Given the description of an element on the screen output the (x, y) to click on. 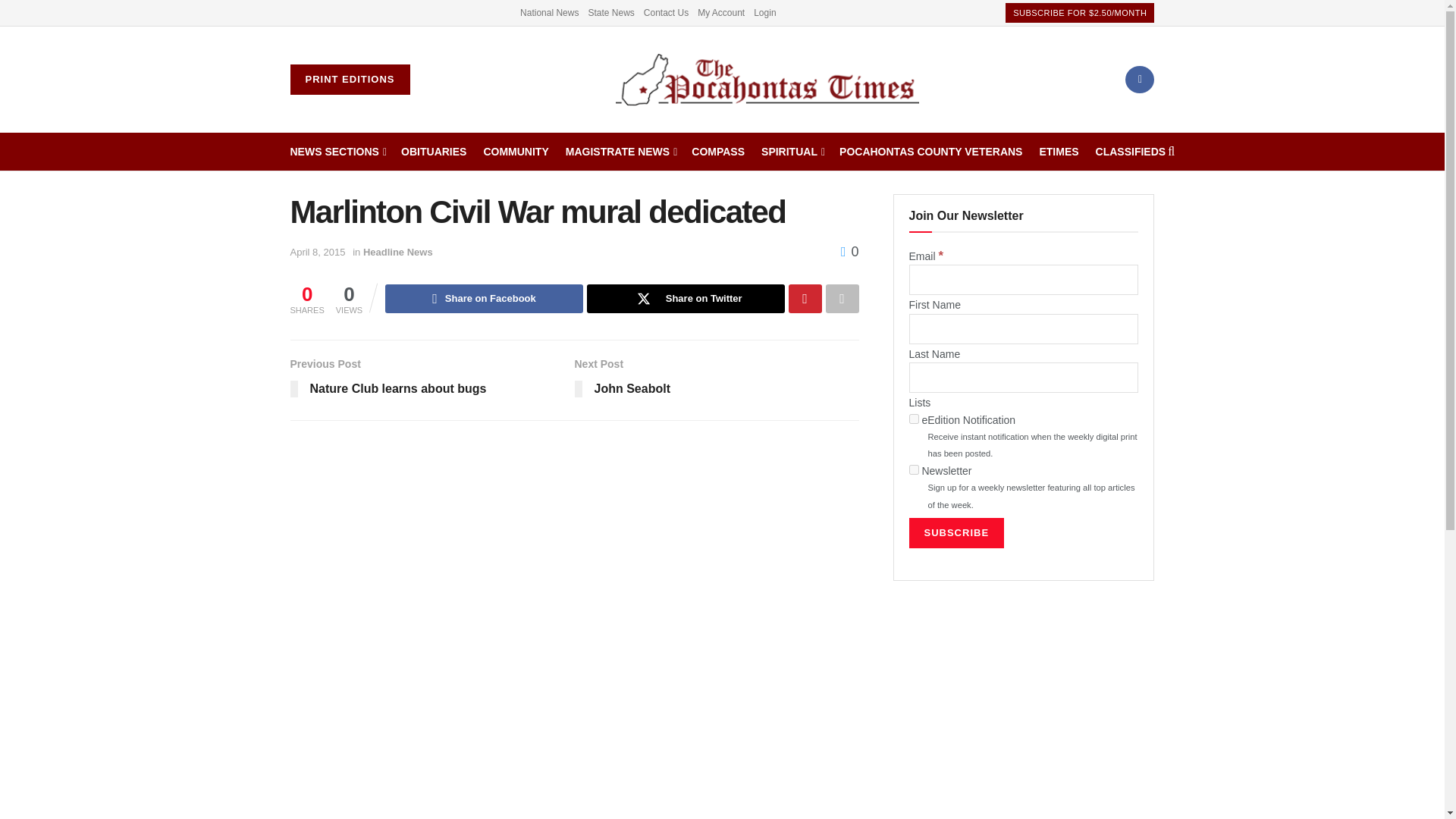
Headline News (397, 251)
National News (548, 12)
COMMUNITY (515, 151)
ETIMES (1058, 151)
Subscribe (956, 532)
State News (610, 12)
1 (913, 419)
My Account (720, 12)
